Given the description of an element on the screen output the (x, y) to click on. 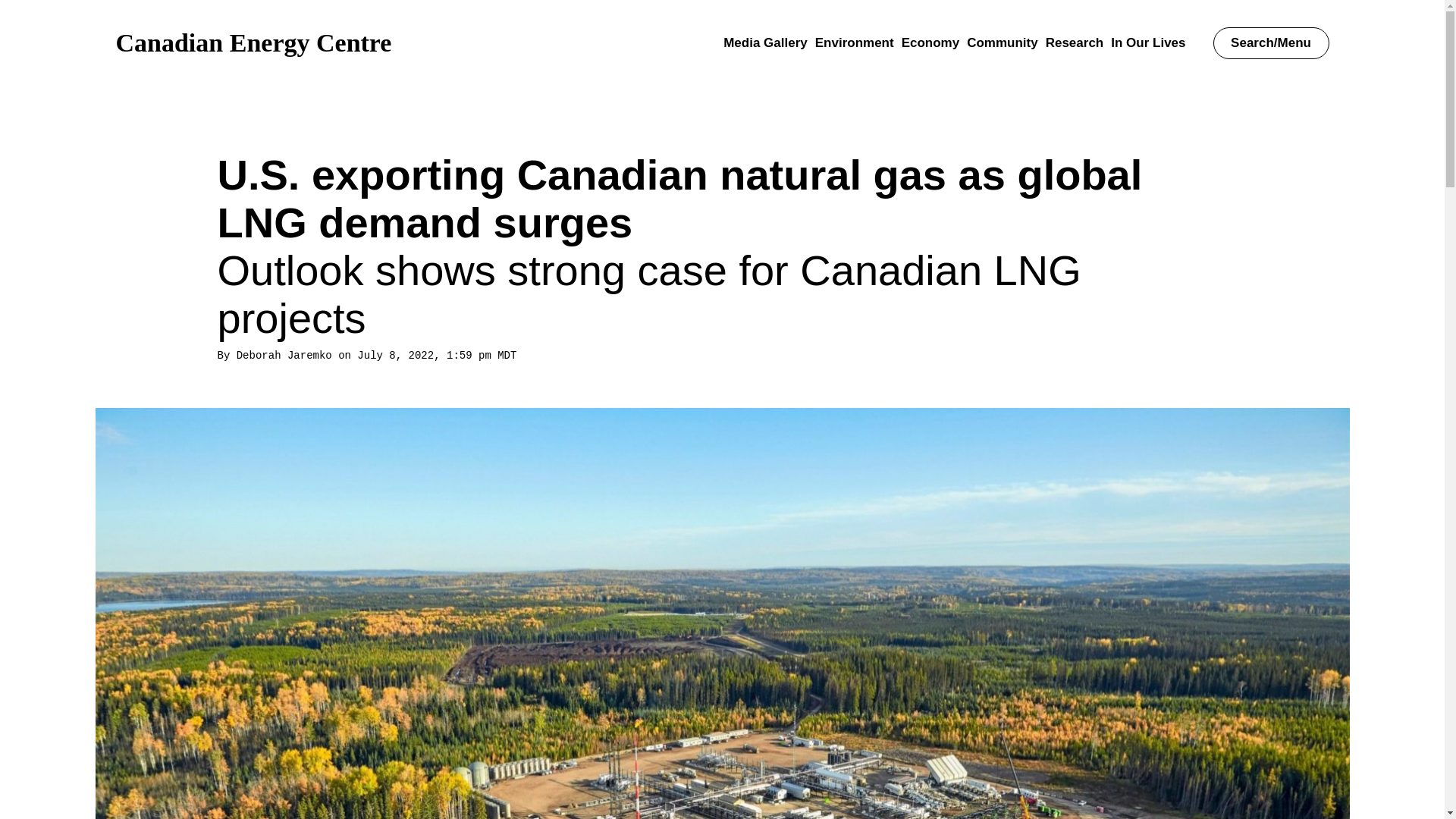
Deborah Jaremko (283, 355)
Economy (930, 42)
Environment (854, 42)
Research (1074, 42)
Community (1002, 42)
In Our Lives (1147, 42)
Media Gallery (765, 42)
Canadian Energy Centre (253, 42)
